Given the description of an element on the screen output the (x, y) to click on. 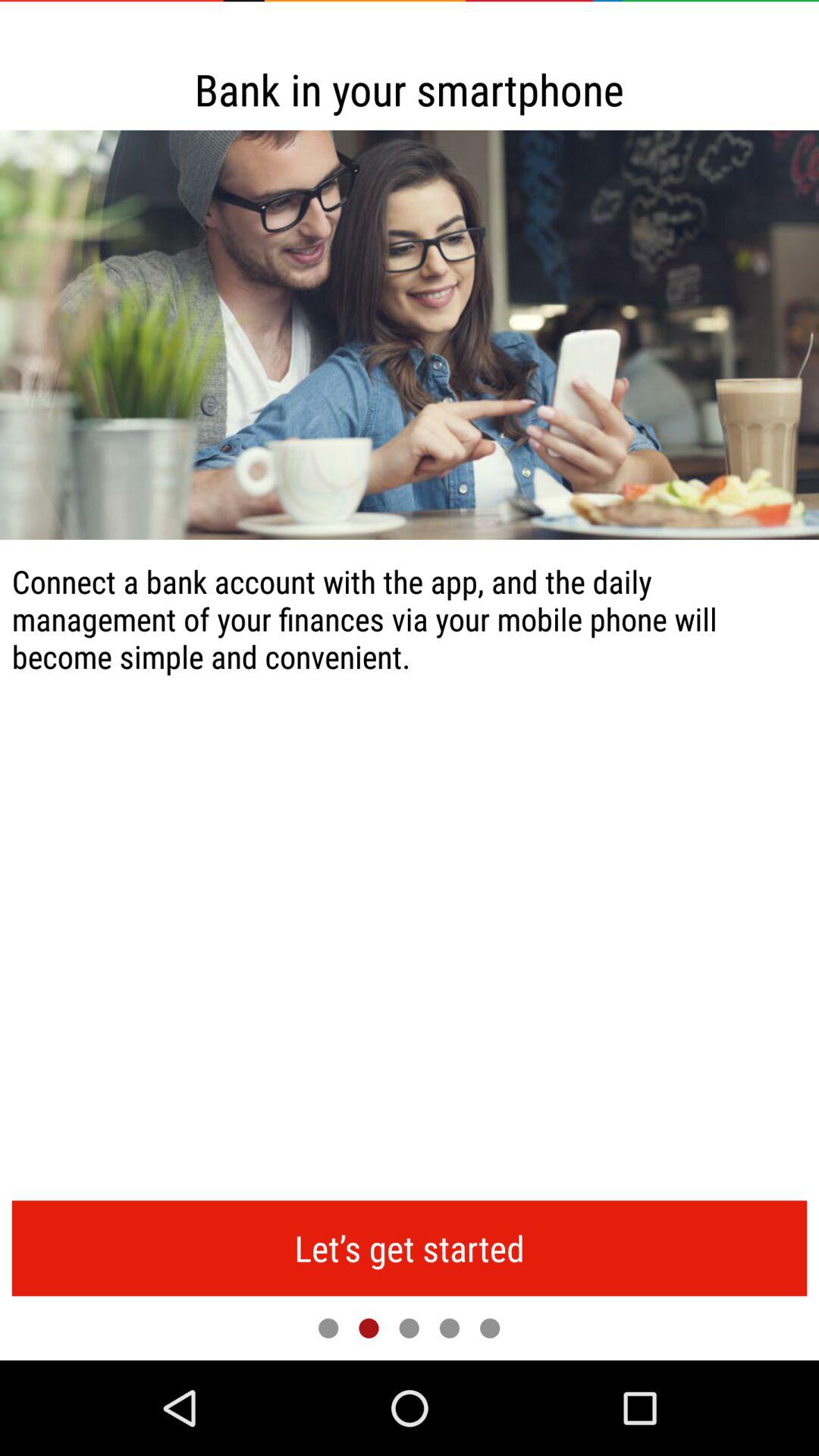
turn off the item below let s get icon (328, 1328)
